Given the description of an element on the screen output the (x, y) to click on. 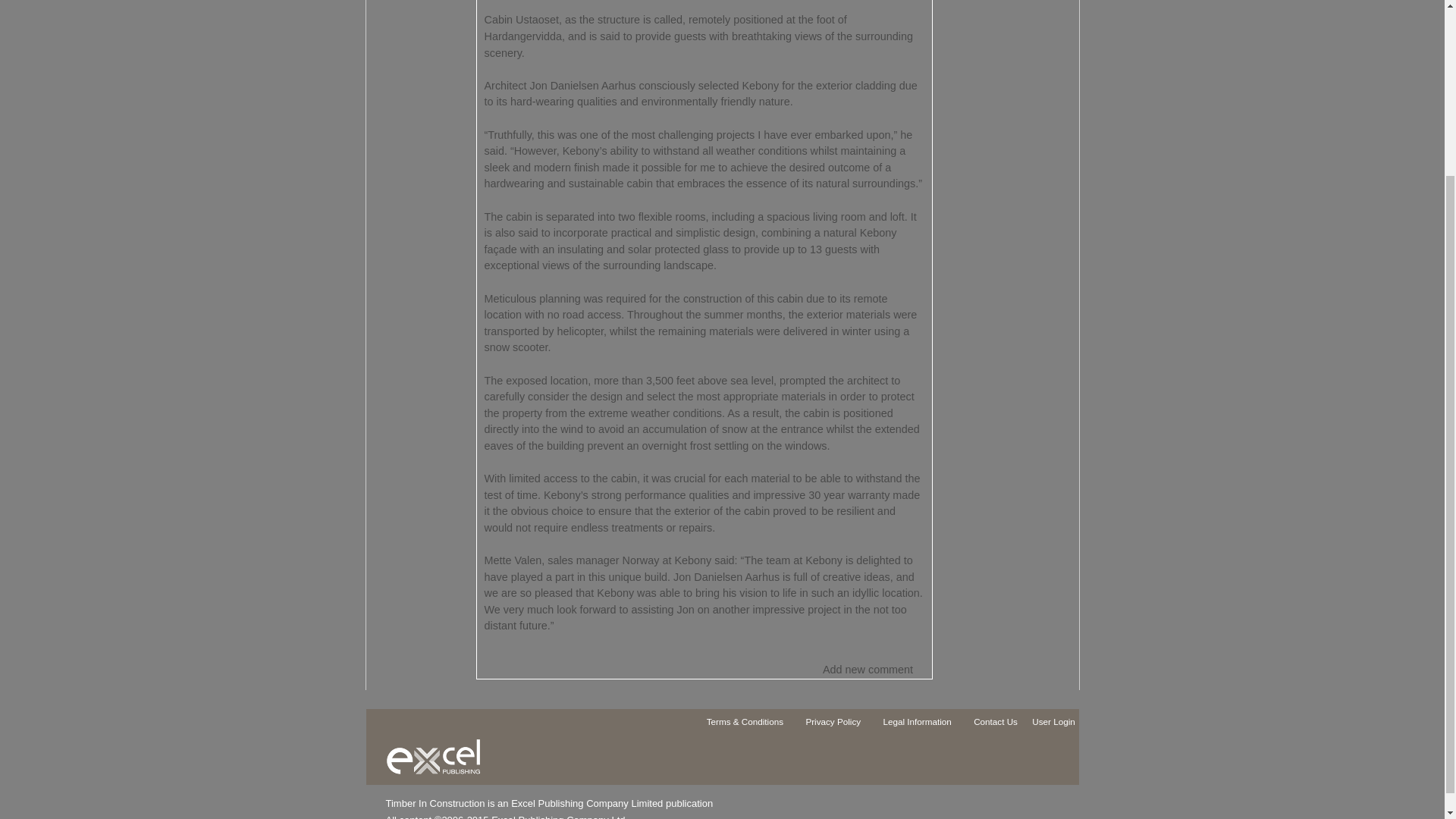
Contact Us (1003, 724)
Legal Information (924, 724)
Privacy Policy (840, 724)
